Given the description of an element on the screen output the (x, y) to click on. 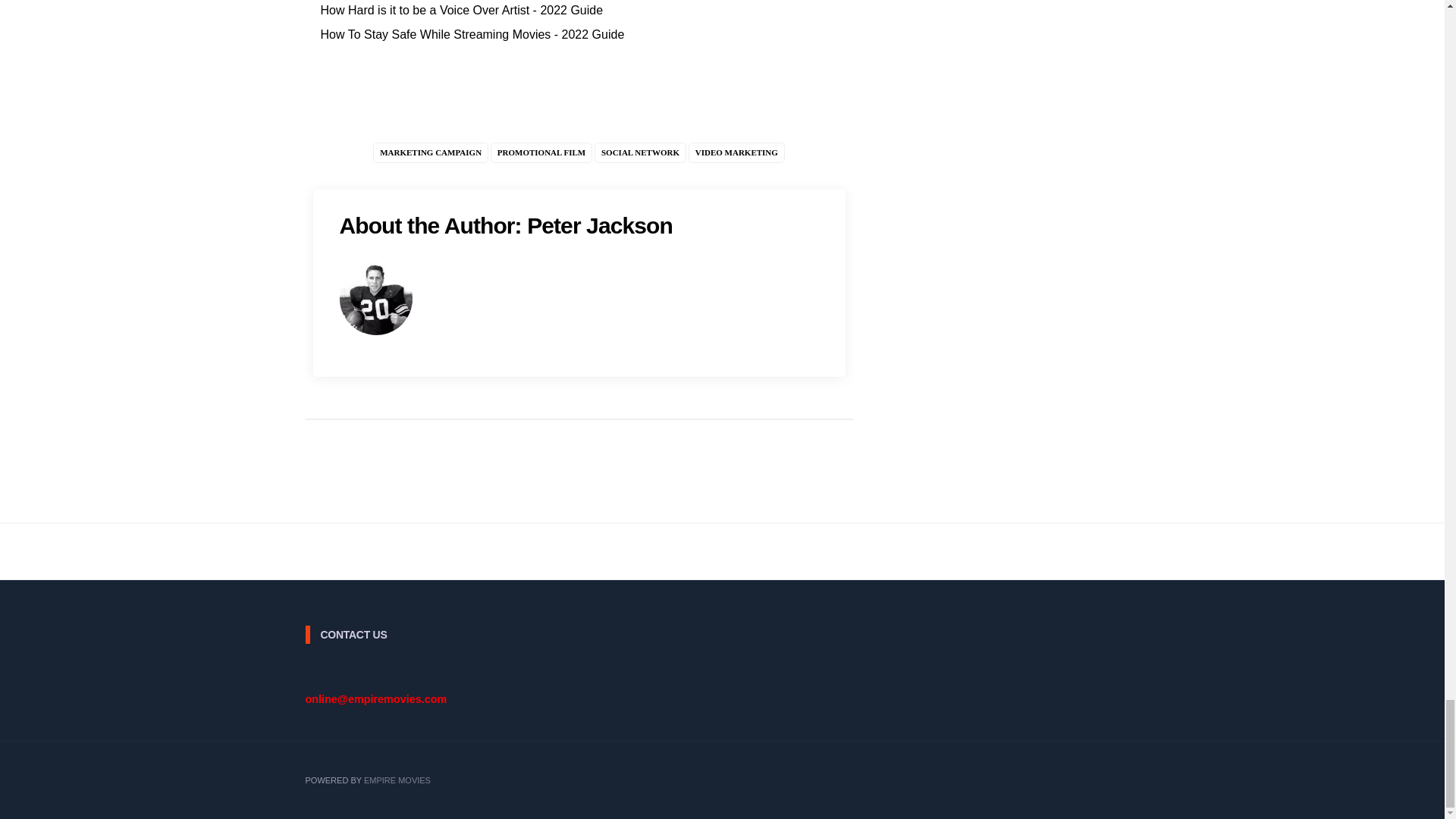
VIDEO MARKETING (736, 152)
MARKETING CAMPAIGN (429, 152)
SOCIAL NETWORK (639, 152)
How To Stay Safe While Streaming Movies - 2022 Guide (472, 33)
PROMOTIONAL FILM (541, 152)
Peter Jackson (599, 225)
Posts by Peter Jackson (599, 225)
How Hard is it to be a Voice Over Artist - 2022 Guide (461, 10)
